Given the description of an element on the screen output the (x, y) to click on. 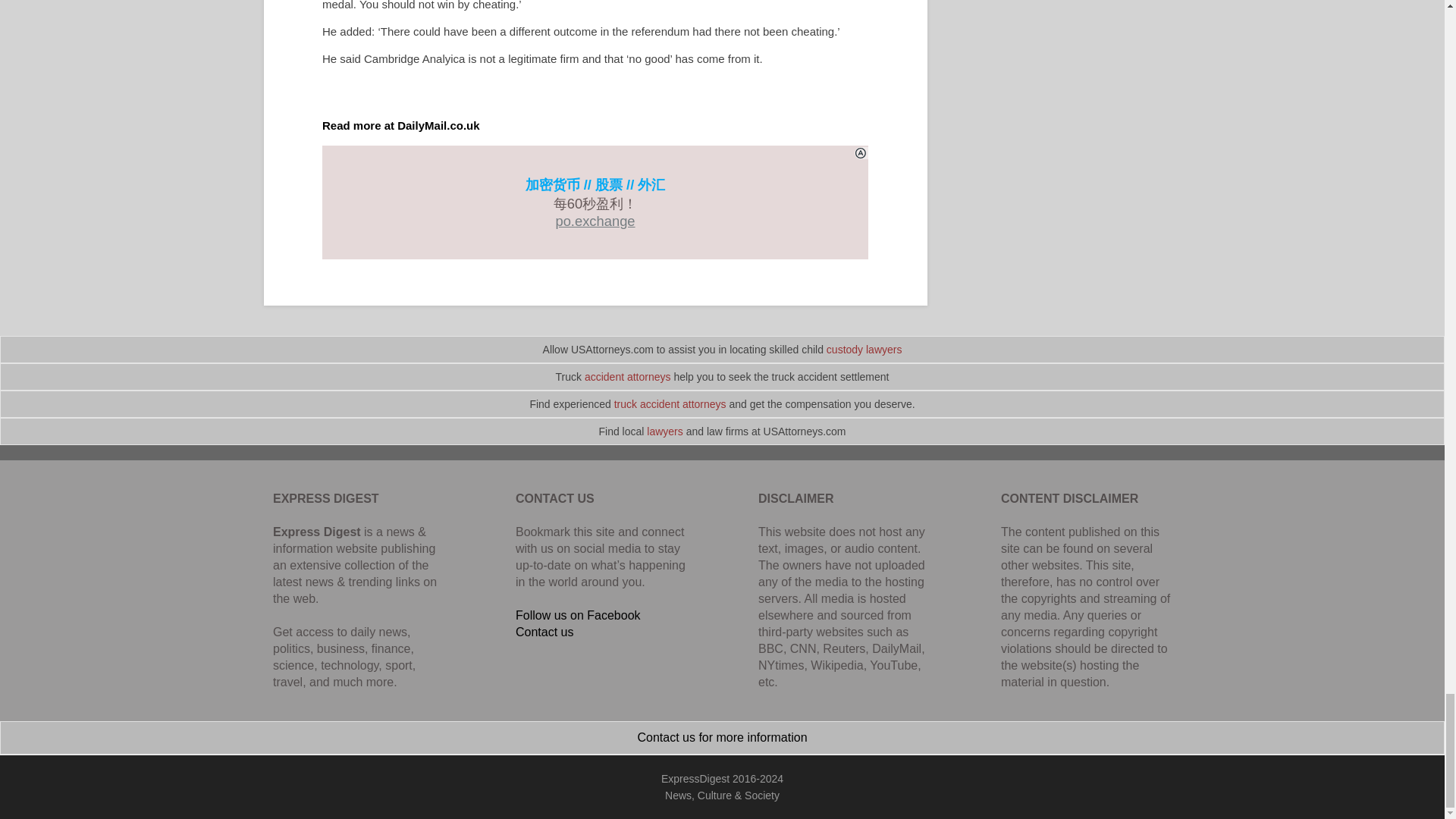
accident attorneys (628, 377)
Read more at DailyMail.co.uk (400, 124)
lawyers (664, 431)
truck accident attorneys (670, 404)
custody lawyers (864, 349)
